Given the description of an element on the screen output the (x, y) to click on. 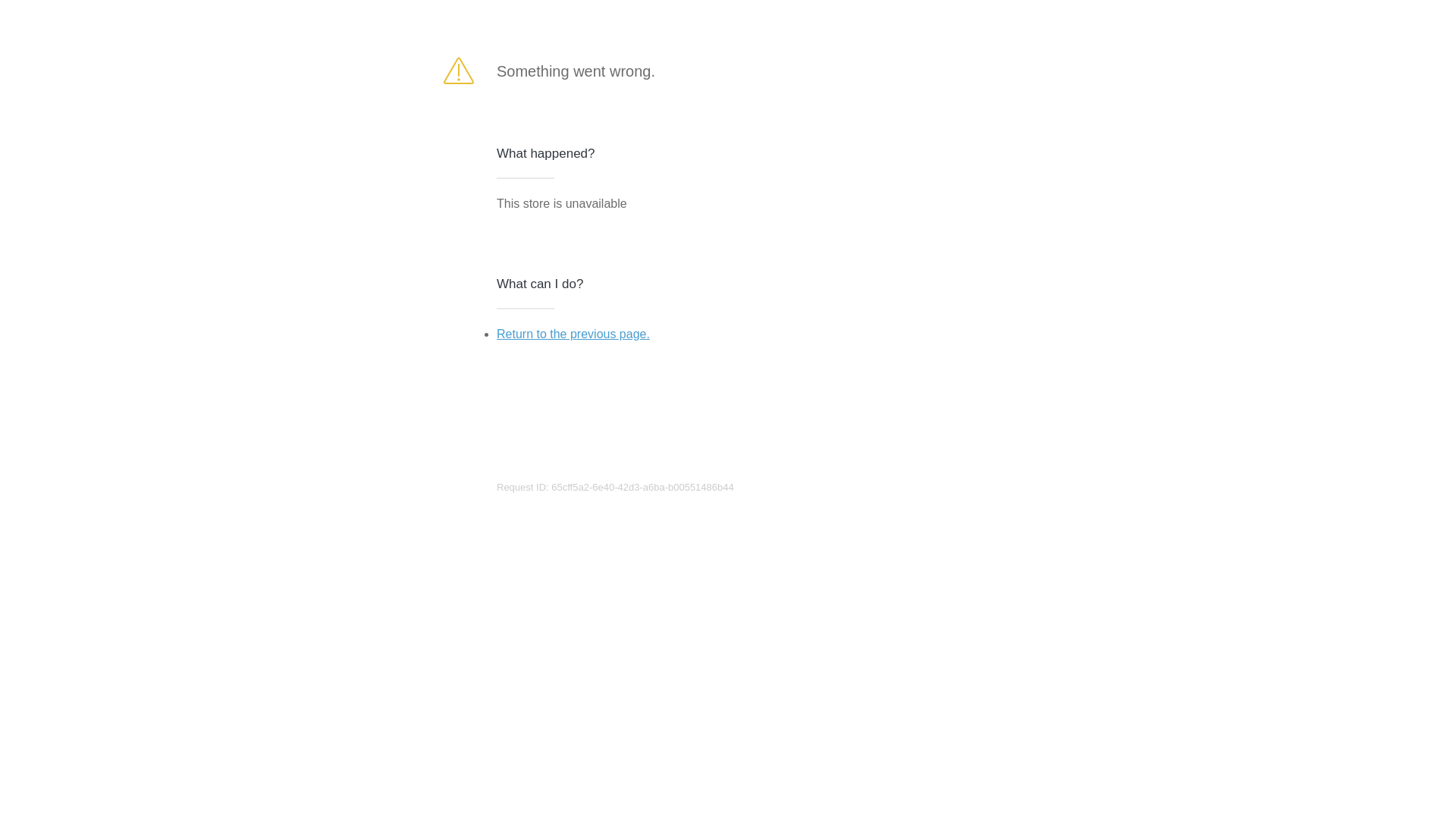
Return to the previous page. Element type: text (572, 333)
